Given the description of an element on the screen output the (x, y) to click on. 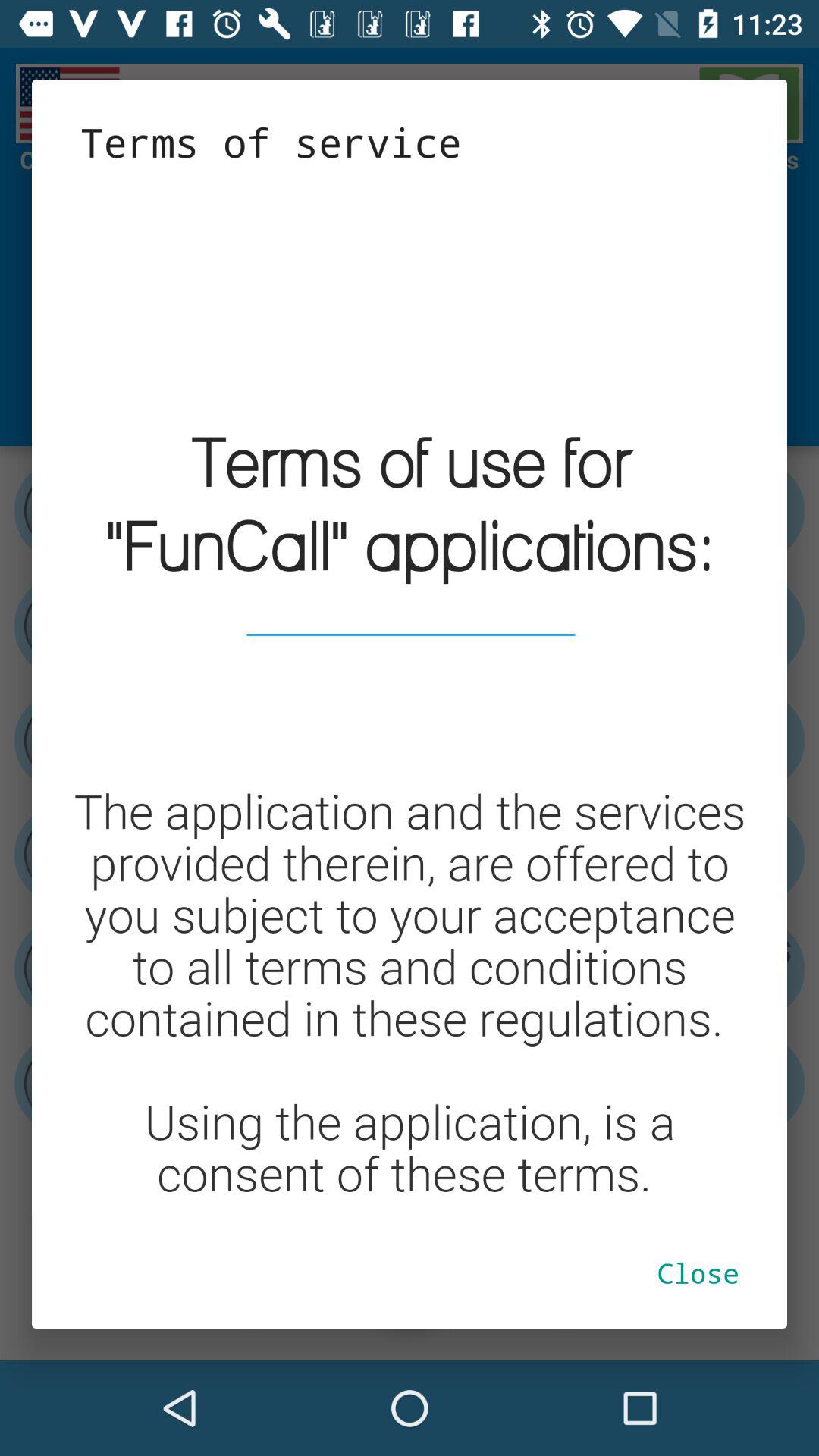
choose the item below terms of service icon (409, 692)
